Given the description of an element on the screen output the (x, y) to click on. 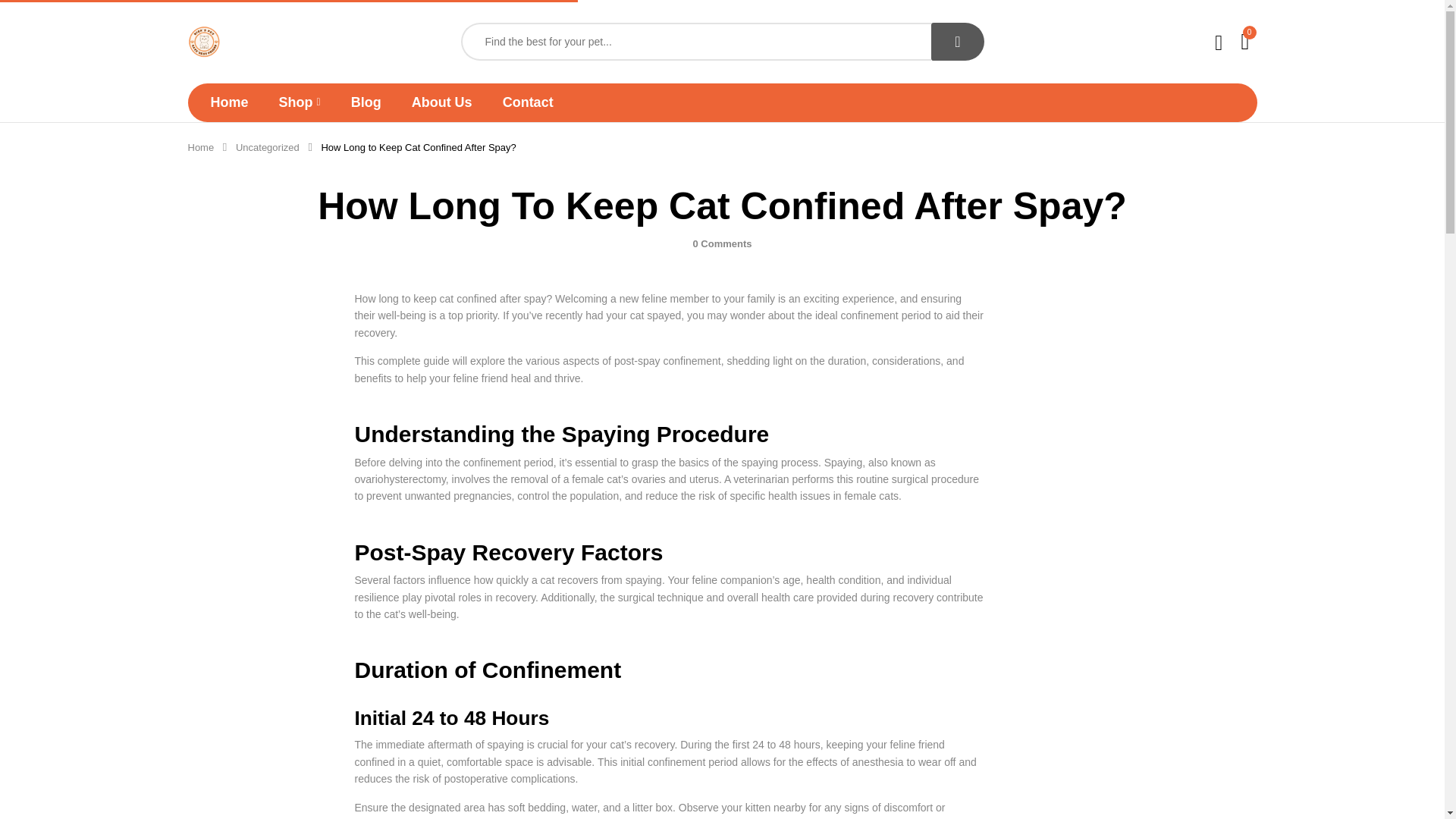
Blog (365, 102)
0 Comments (722, 243)
About Us (441, 102)
Uncategorized (267, 147)
Contact (527, 102)
Home (229, 102)
Home (200, 147)
search (957, 41)
Shop (299, 102)
